Given the description of an element on the screen output the (x, y) to click on. 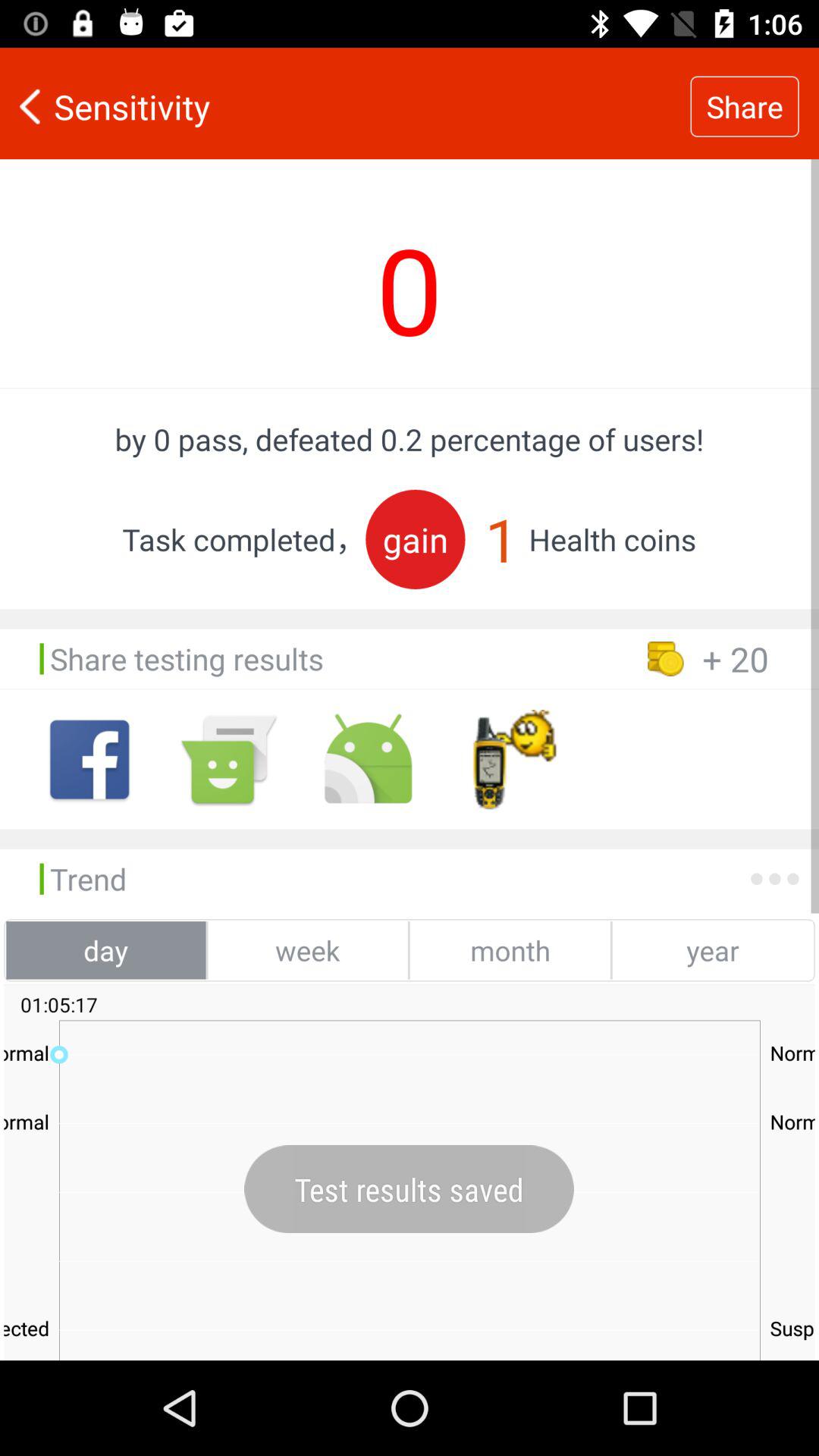
choode the red color circle (415, 539)
choose facebook icon (89, 759)
click on message icon (229, 759)
click on the third image of share testing results (367, 759)
